Given the description of an element on the screen output the (x, y) to click on. 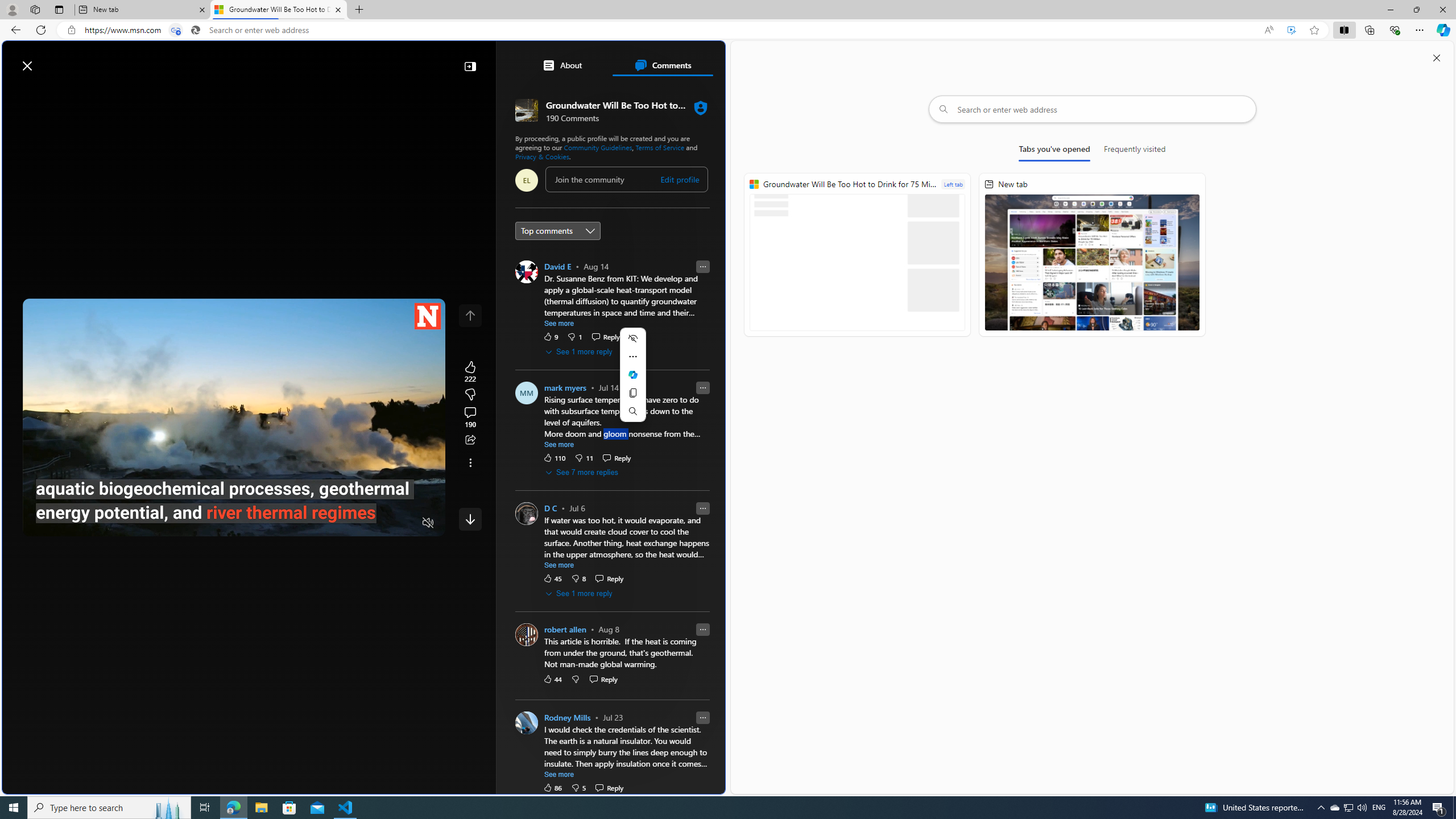
Mini menu on text selection (633, 381)
More like this222Fewer like thisView comments (469, 394)
110 Like (554, 457)
Community Guidelines (597, 146)
Tabs in split screen (175, 29)
mark myers (564, 387)
Tabs you've opened (1054, 151)
